Given the description of an element on the screen output the (x, y) to click on. 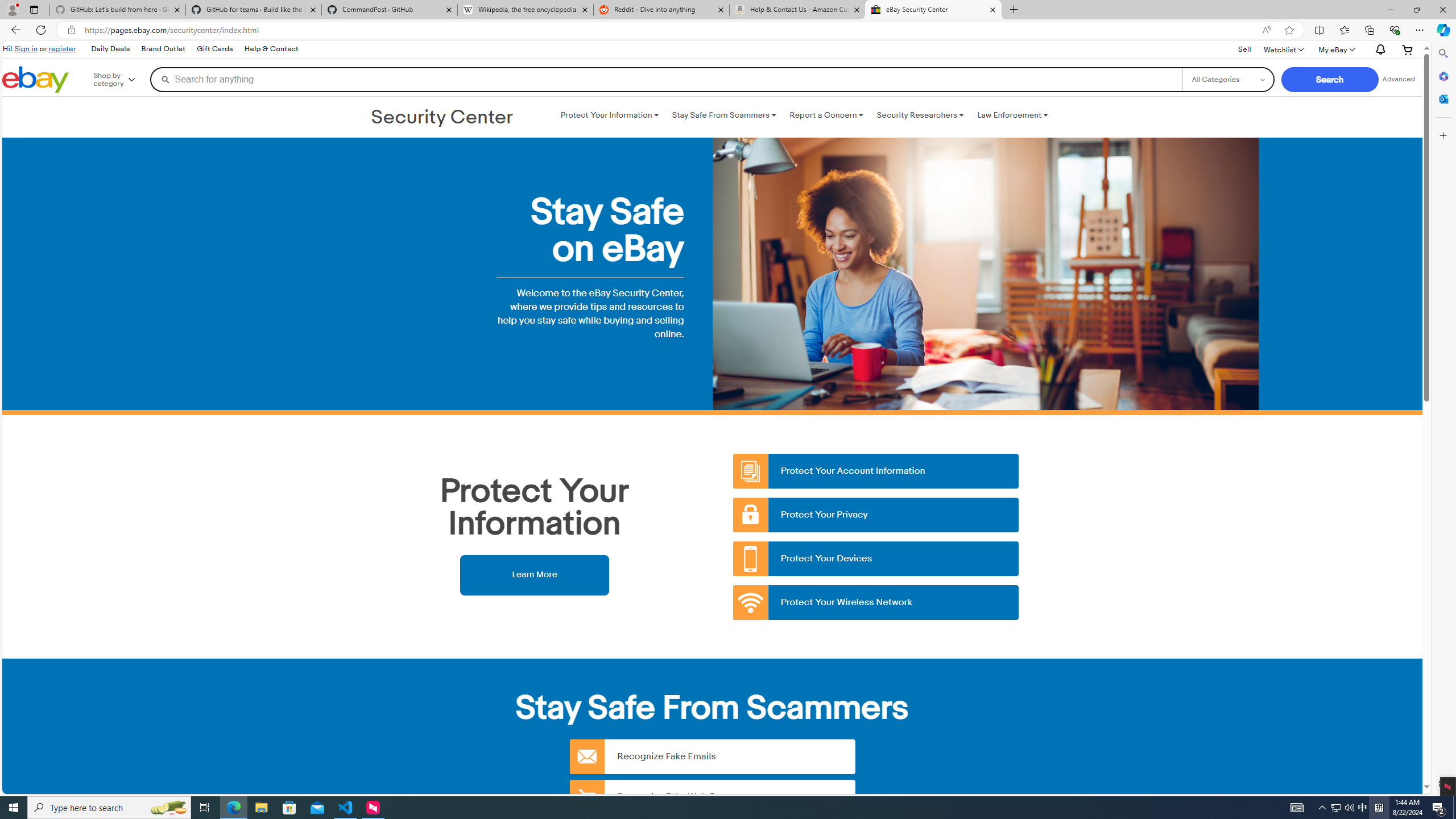
Recognize Fake Emails (712, 756)
Security Researchers  (919, 115)
Learn More (534, 574)
Security Researchers  (919, 115)
Reddit - Dive into anything (660, 9)
Notifications (1377, 49)
Protect Your Information  (608, 115)
Sell (1244, 49)
Select a category for search (1228, 78)
